Given the description of an element on the screen output the (x, y) to click on. 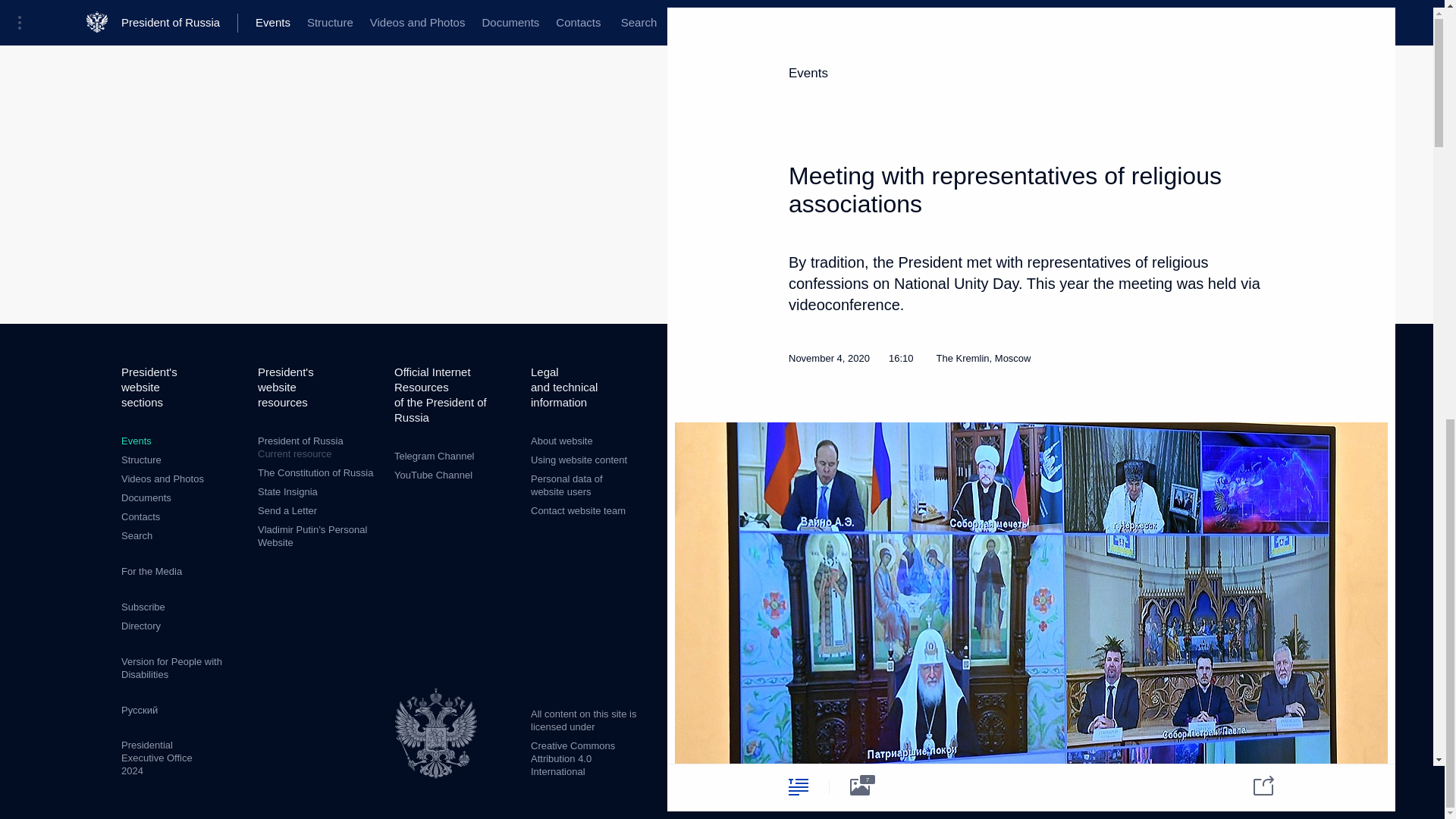
Search (136, 535)
Send a Letter (287, 510)
Telegram Channel (434, 455)
Subscribe (142, 606)
YouTube Channel (432, 474)
Creative Commons Attribution 4.0 International (572, 758)
For the Media (151, 571)
Version for People with Disabilities (171, 668)
About website (317, 447)
